Given the description of an element on the screen output the (x, y) to click on. 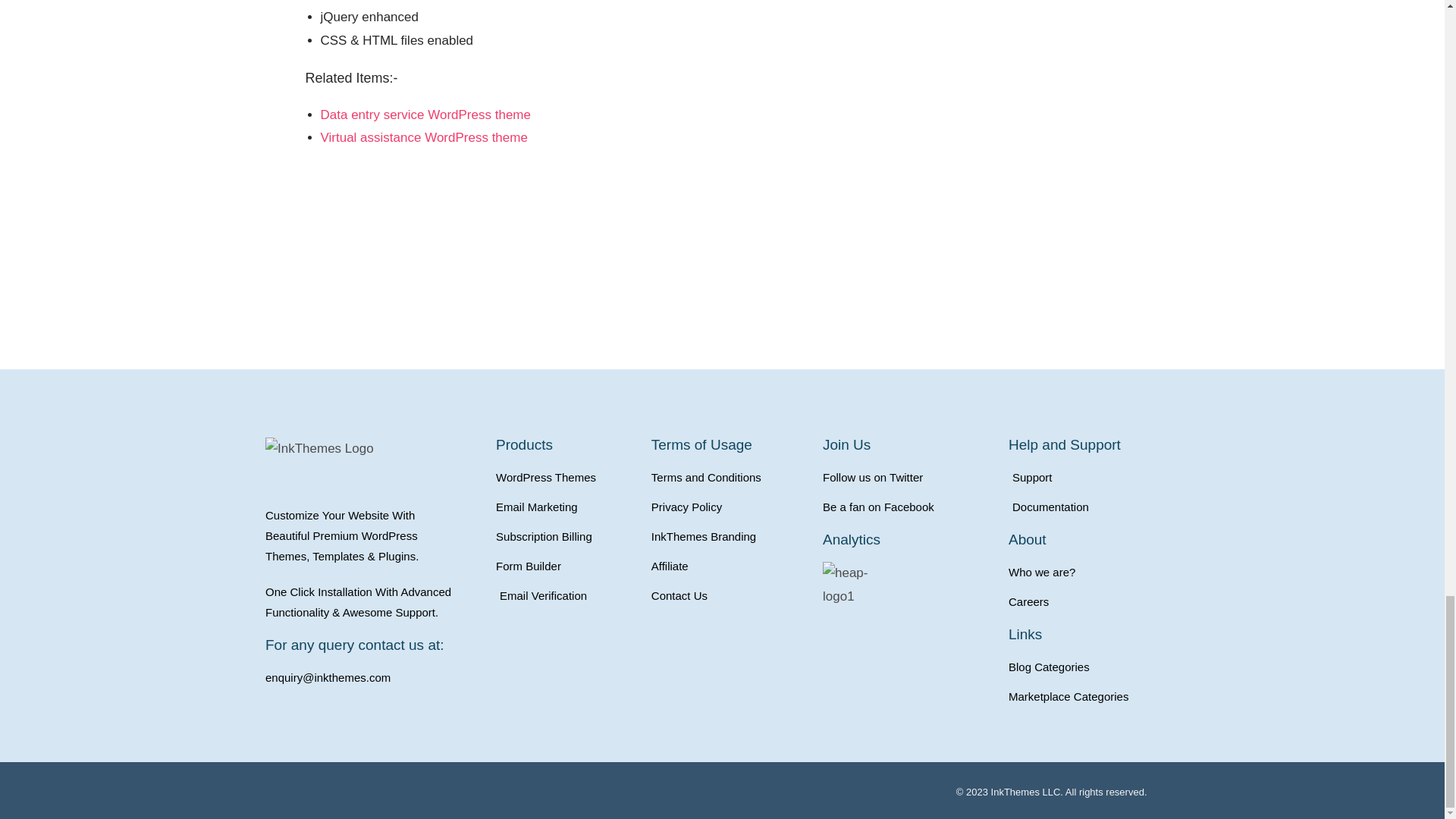
heap-logo1 (860, 584)
Follow us on Twitter (907, 476)
Careers (1094, 601)
Who we are? (1094, 571)
Email Marketing (566, 506)
Support (1094, 476)
Privacy Policy (729, 506)
Email Verification (566, 595)
Contact Us (729, 595)
Be a fan on Facebook (907, 506)
Form Builder (566, 566)
WordPress Themes (566, 476)
InkThemes Branding (729, 536)
Affiliate (729, 566)
Data entry service WordPress theme (424, 114)
